Given the description of an element on the screen output the (x, y) to click on. 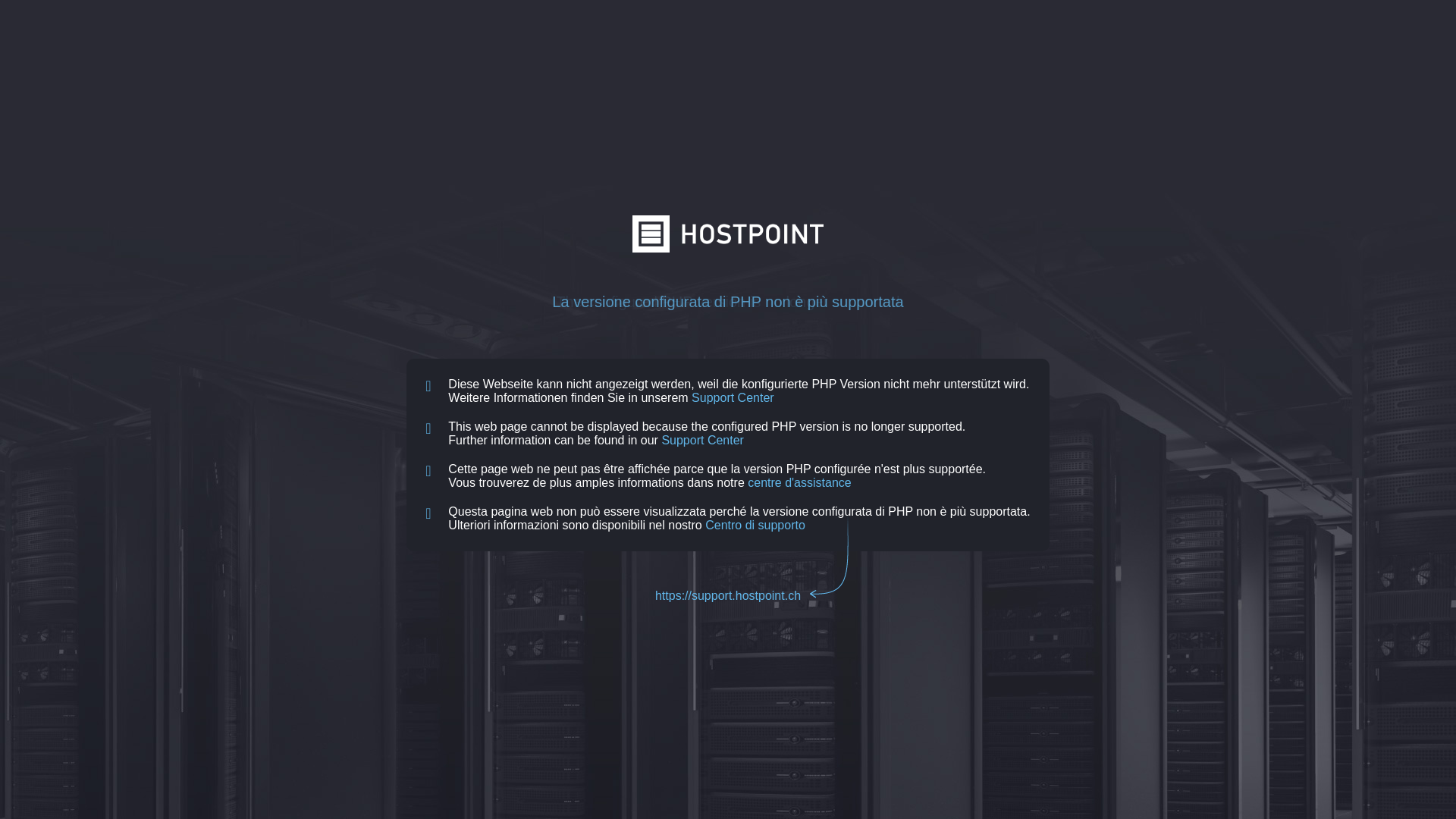
centre d'assistance Element type: text (798, 482)
Centro di supporto Element type: text (755, 524)
https://support.hostpoint.ch Element type: text (727, 595)
Support Center Element type: text (732, 397)
Support Center Element type: text (702, 439)
